Given the description of an element on the screen output the (x, y) to click on. 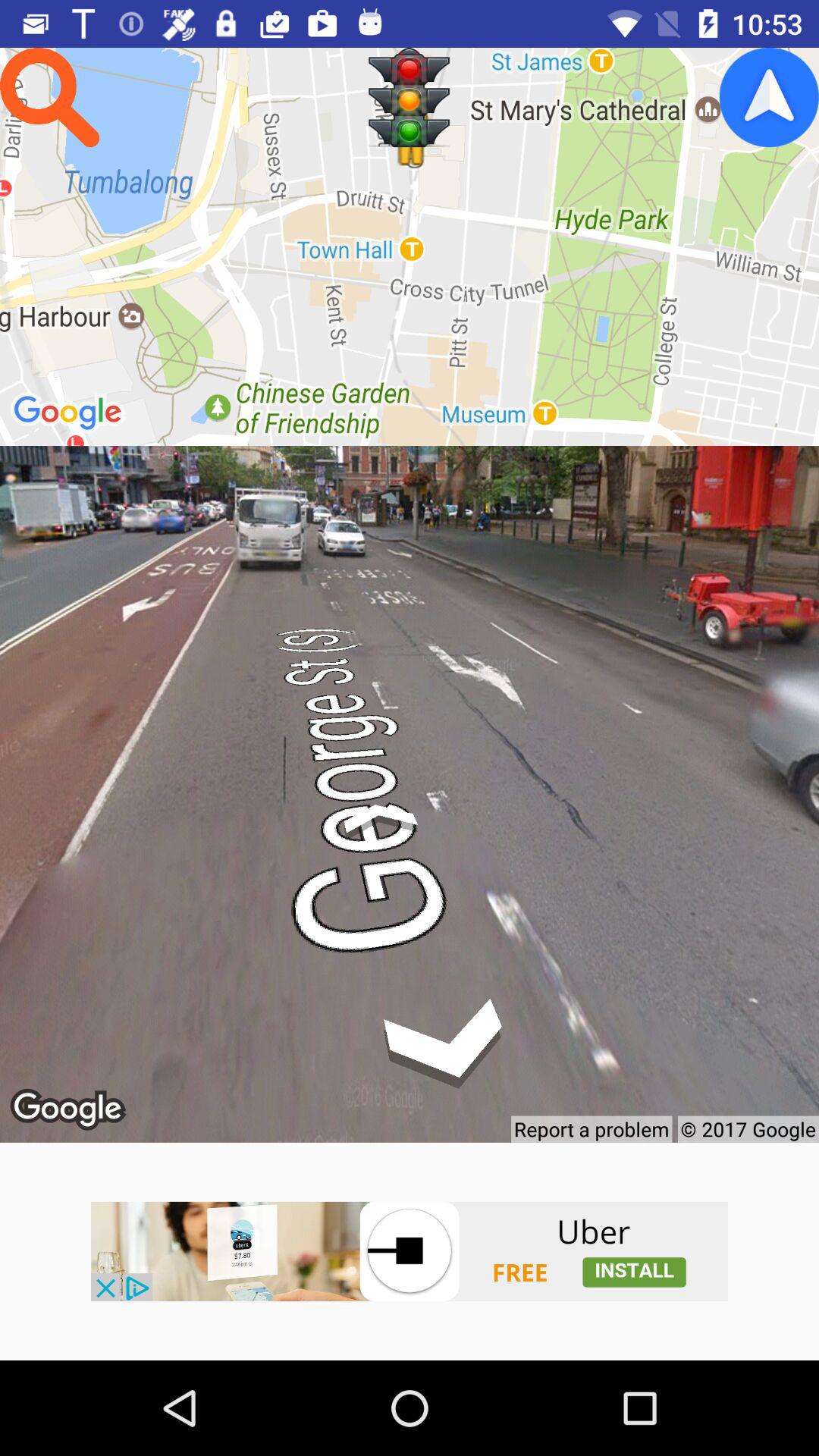
location tracker (769, 97)
